Given the description of an element on the screen output the (x, y) to click on. 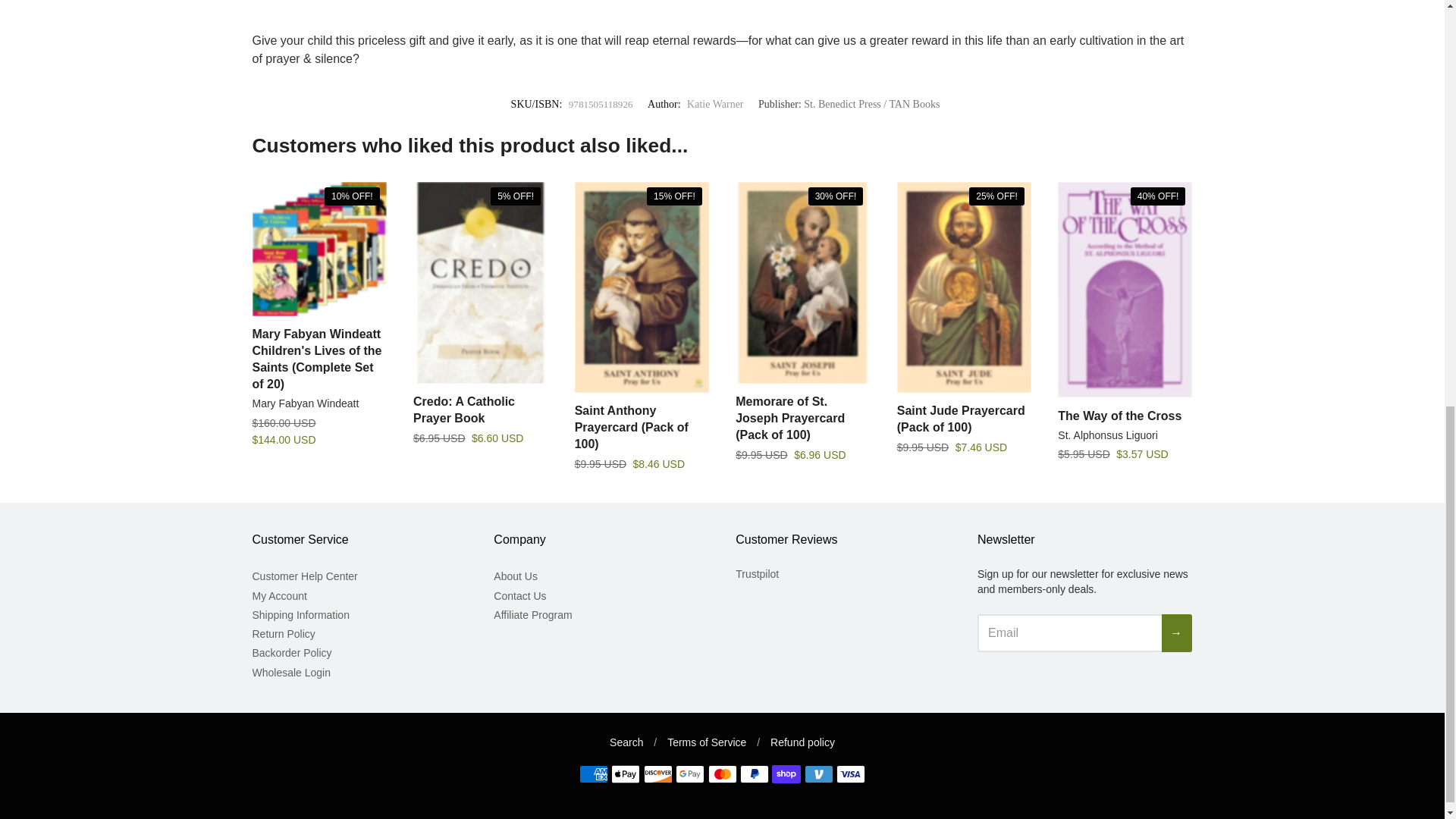
Visa (849, 773)
Credo: A Catholic Prayer Book (464, 409)
The Way of the Cross (1119, 415)
Google Pay (689, 773)
American Express (593, 773)
Venmo (818, 773)
Discover (657, 773)
Shop Pay (785, 773)
Mastercard (721, 773)
PayPal (753, 773)
